Given the description of an element on the screen output the (x, y) to click on. 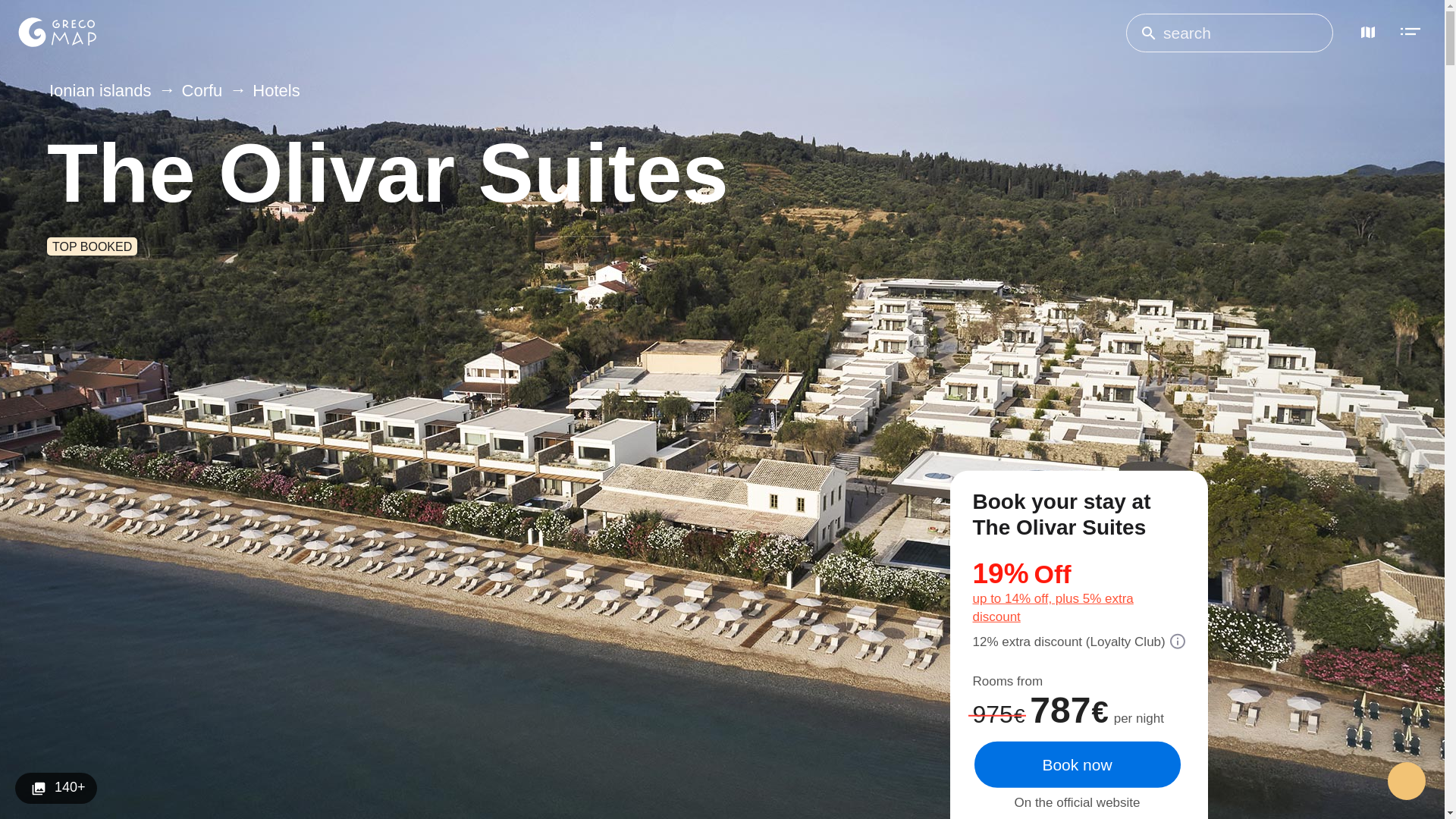
Special Offers (1084, 590)
Grecomap Travel Guide (56, 31)
Book now (1076, 764)
Ionian islands (102, 91)
Ionian islands (102, 91)
Hotels (268, 91)
Hotels - Corfu (268, 91)
Corfu (194, 91)
Corfu (194, 91)
Search (1148, 33)
